Given the description of an element on the screen output the (x, y) to click on. 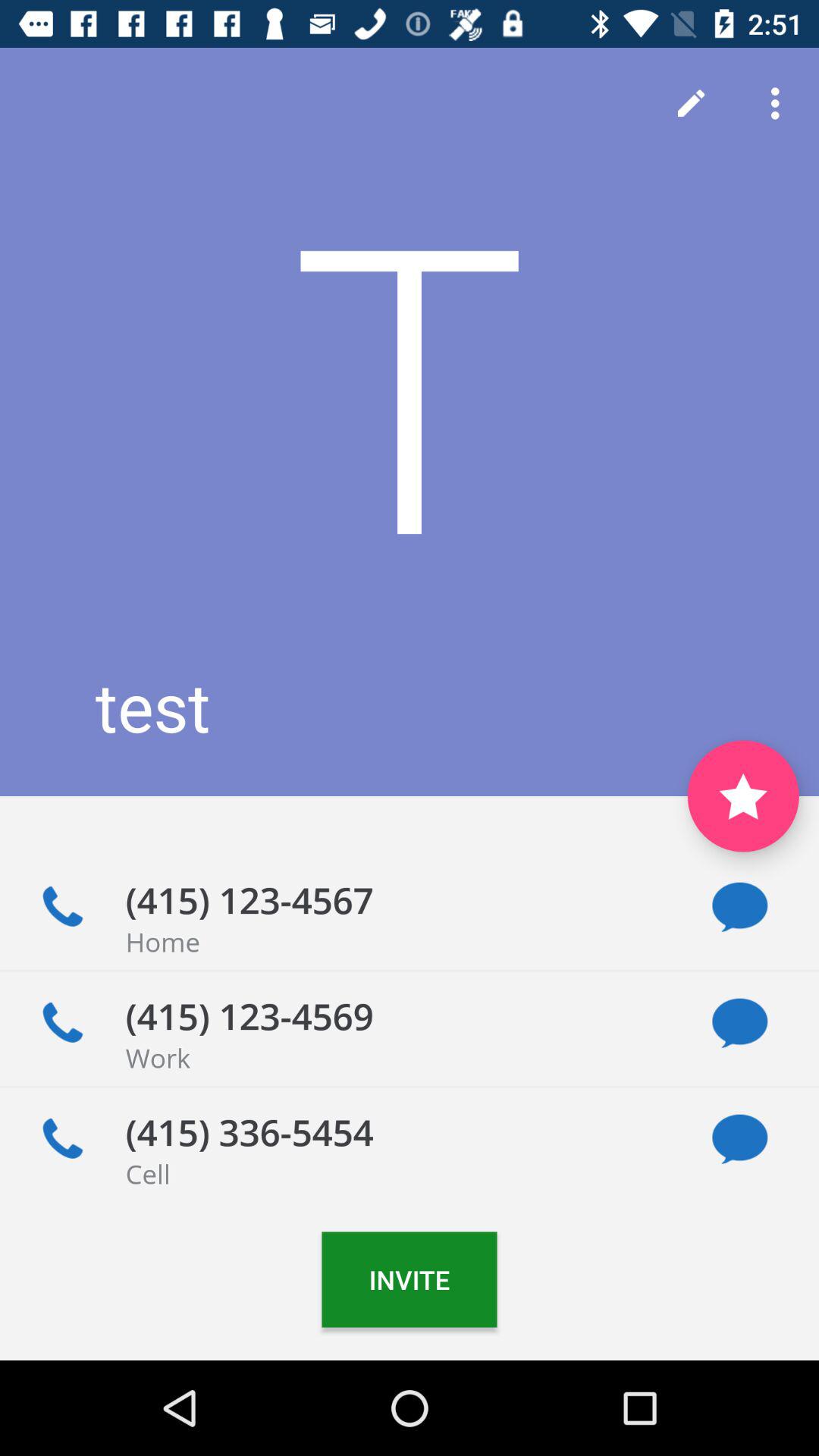
call icon (62, 1023)
